Given the description of an element on the screen output the (x, y) to click on. 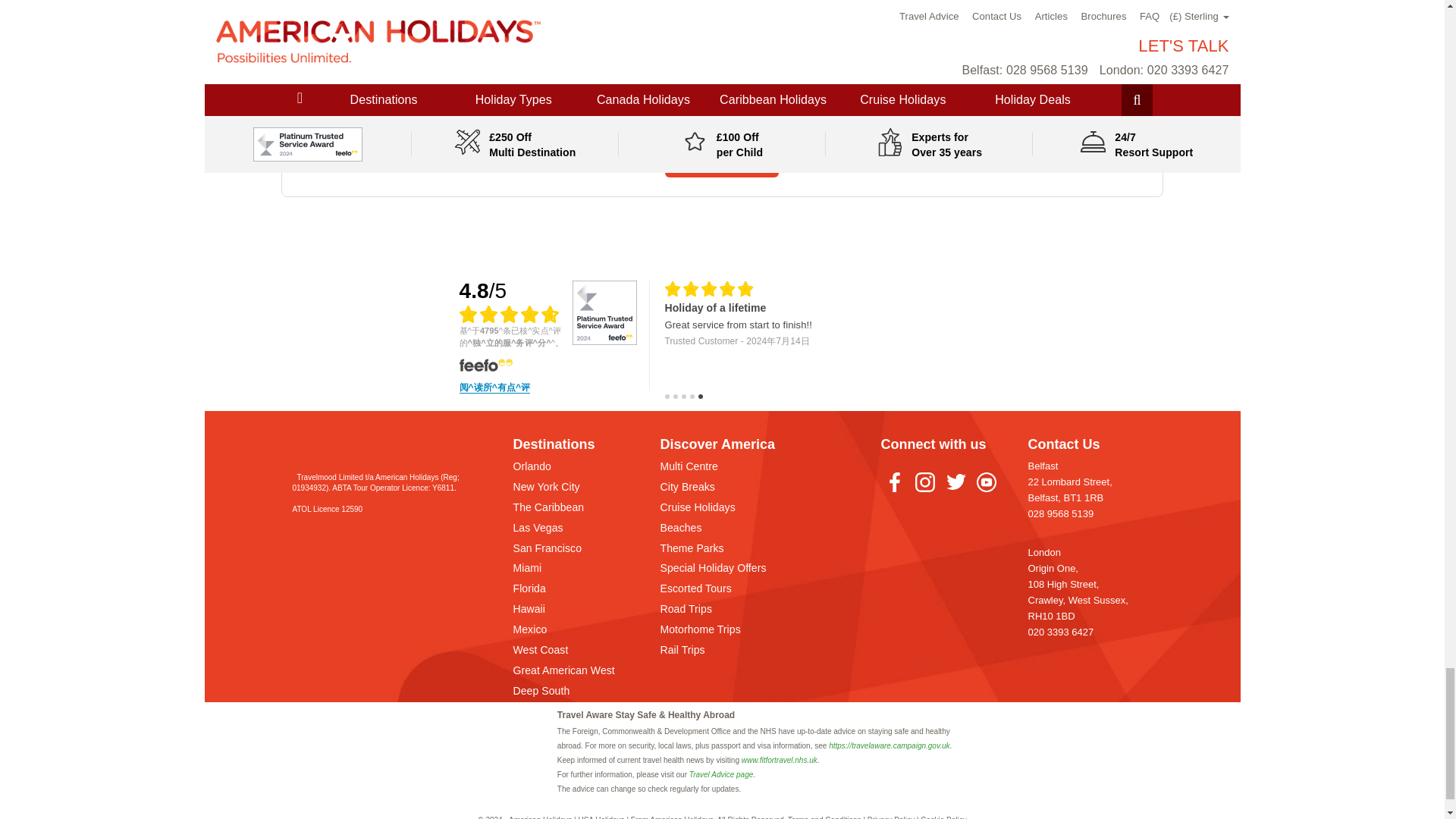
No (402, 71)
Subscribe (721, 160)
Yes (735, 71)
Yes (348, 71)
No (788, 71)
